Given the description of an element on the screen output the (x, y) to click on. 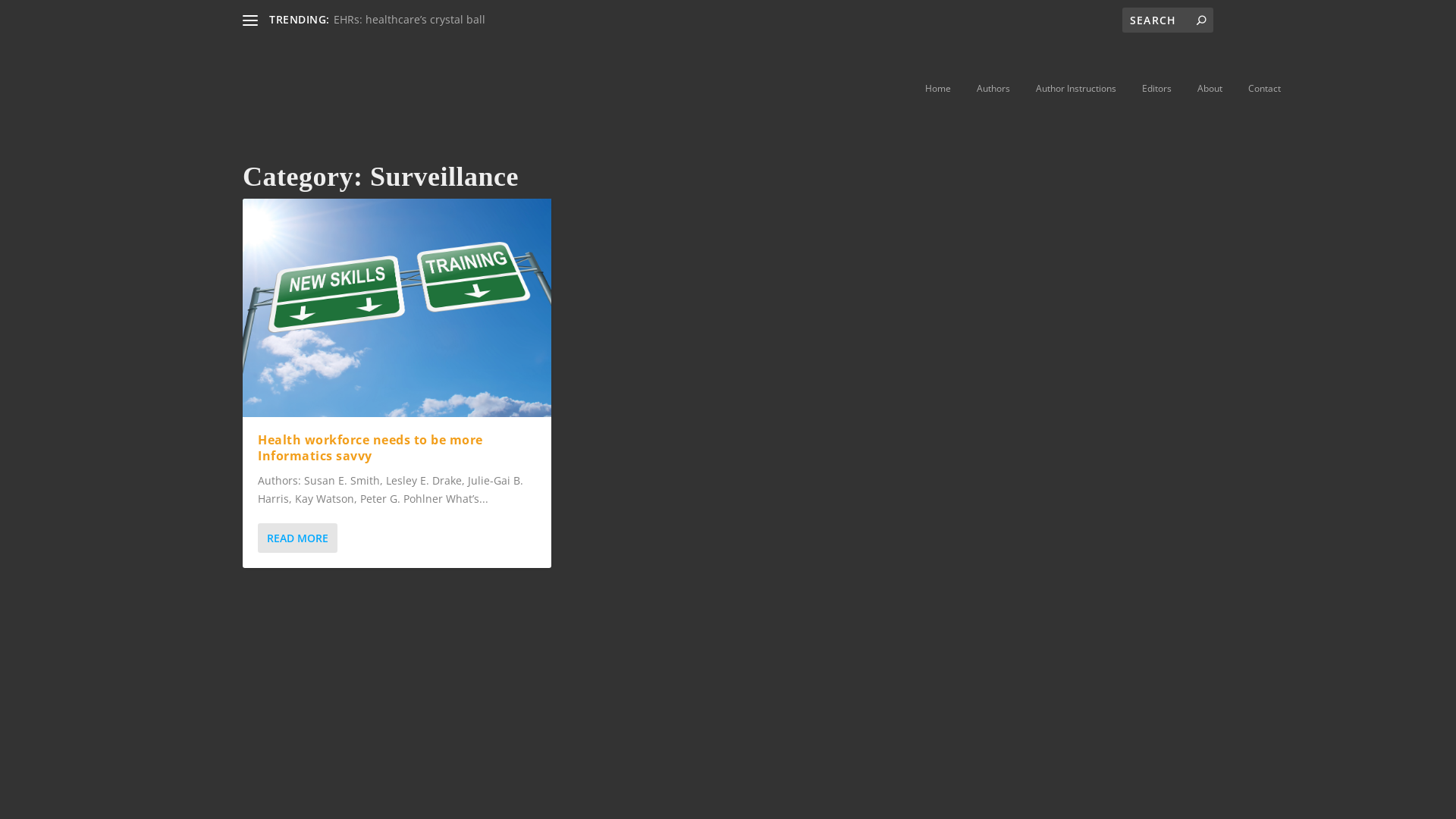
Authors Element type: text (993, 88)
Health workforce needs to be more Informatics savvy Element type: hover (396, 307)
READ MORE Element type: text (297, 537)
Author Instructions Element type: text (1075, 88)
About Element type: text (1209, 88)
Contact Element type: text (1264, 88)
Home Element type: text (937, 88)
Search for: Element type: hover (1167, 19)
Editors Element type: text (1156, 88)
Health workforce needs to be more Informatics savvy Element type: text (370, 447)
